Given the description of an element on the screen output the (x, y) to click on. 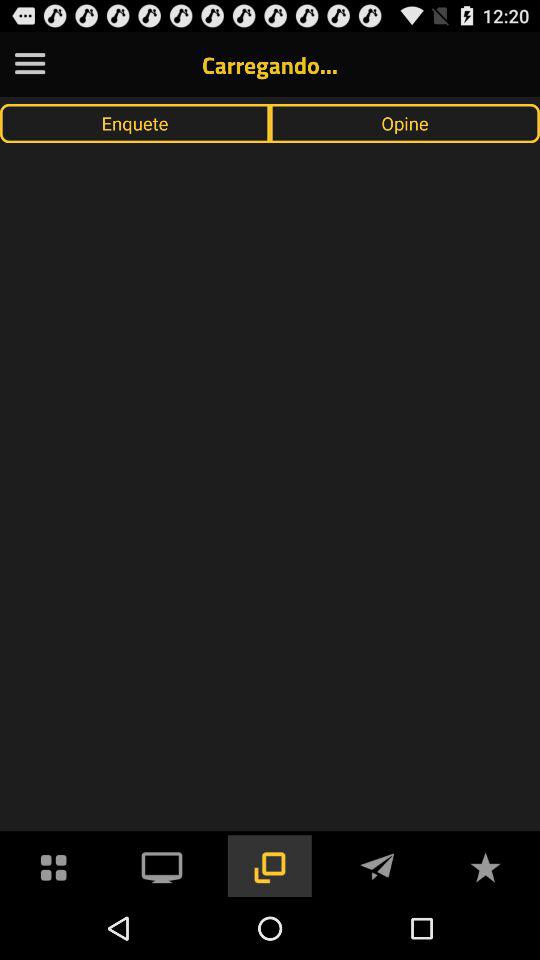
settings (29, 64)
